Given the description of an element on the screen output the (x, y) to click on. 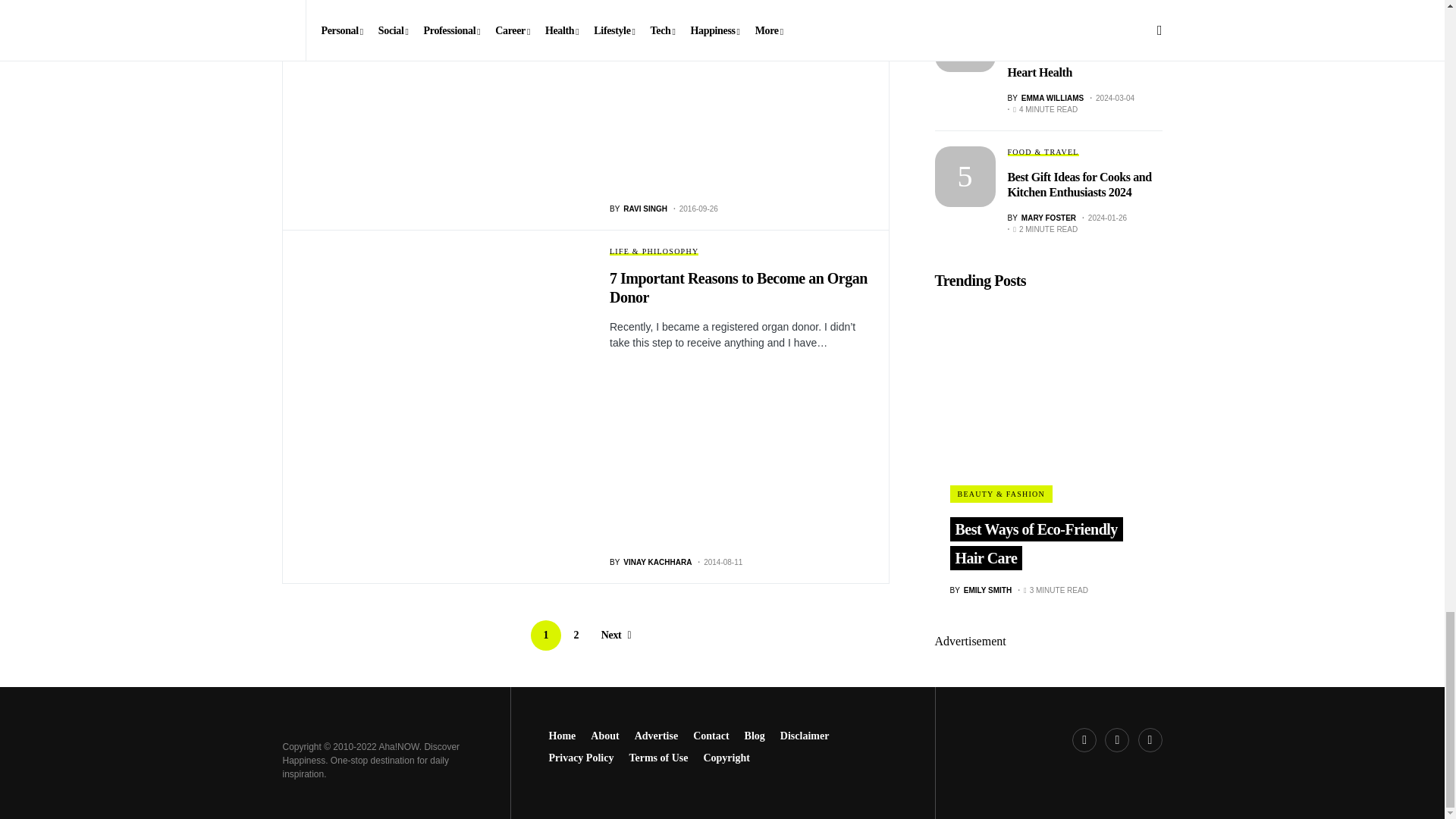
View all posts by Ravi Singh (638, 208)
View all posts by Vinay Kachhara (650, 562)
